Given the description of an element on the screen output the (x, y) to click on. 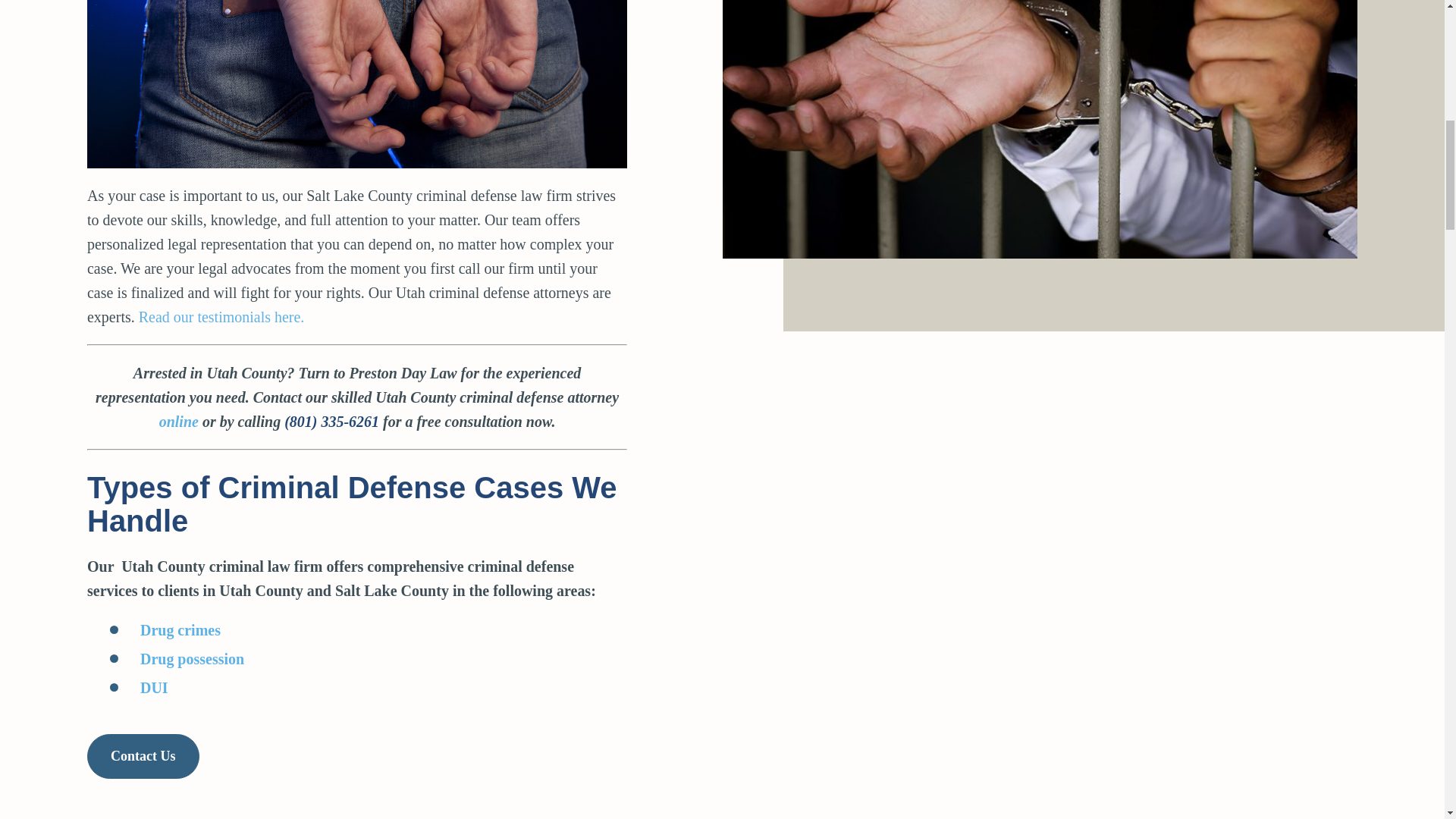
DUI (153, 687)
Read our testimonials here. (221, 316)
Contact Us (143, 756)
online (178, 421)
Drug crimes (180, 629)
Drug possession (191, 658)
